Given the description of an element on the screen output the (x, y) to click on. 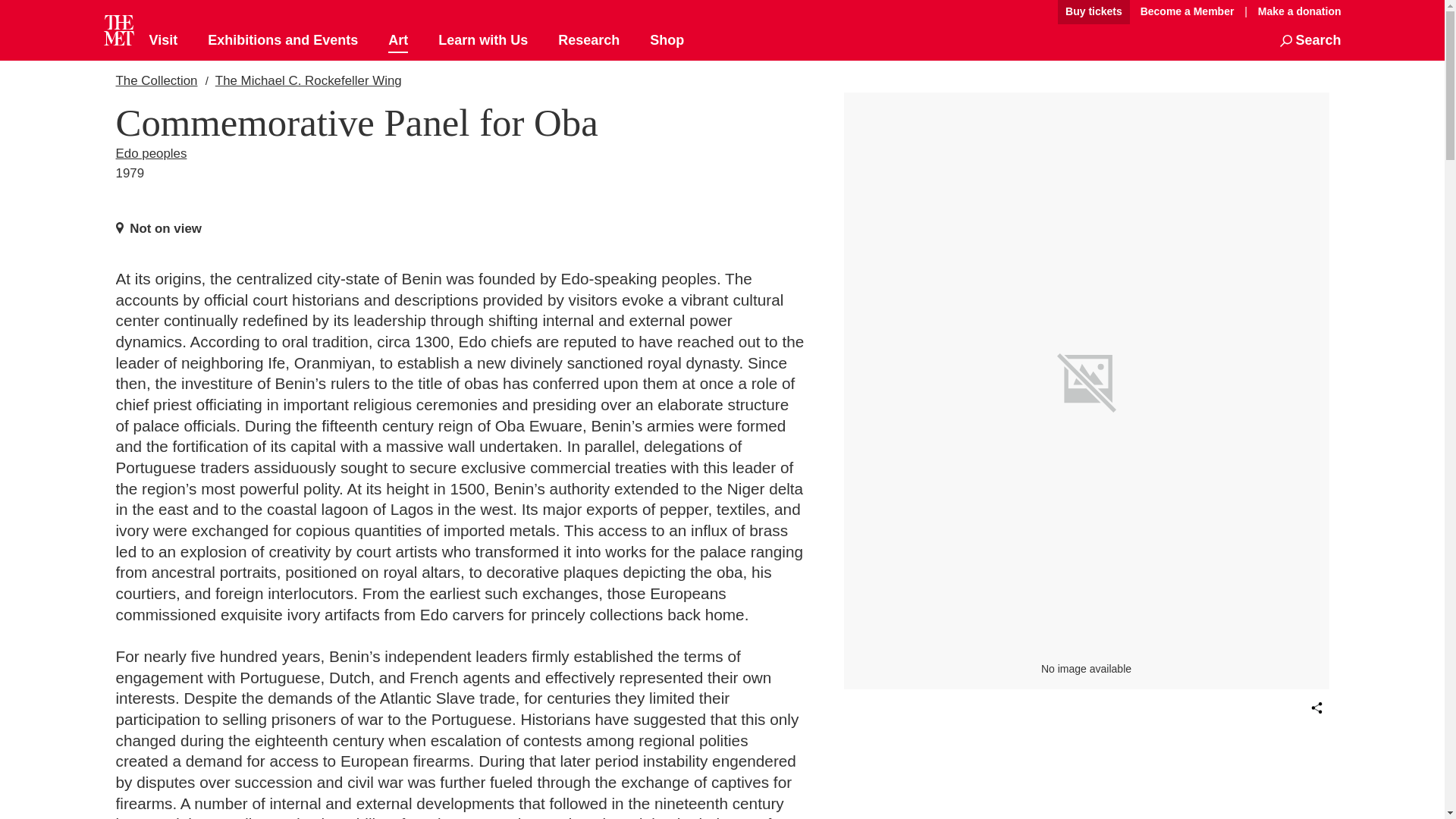
Homepage (118, 30)
Member (1186, 12)
Exhibitions and Events (283, 41)
Search (1309, 41)
Visit (162, 41)
Search Button (1309, 41)
Shop (666, 41)
The Collection (155, 80)
Make a donation (1295, 11)
Learn with Us (482, 41)
Research (588, 41)
tickets (1093, 12)
Jump to content (1005, 12)
